Given the description of an element on the screen output the (x, y) to click on. 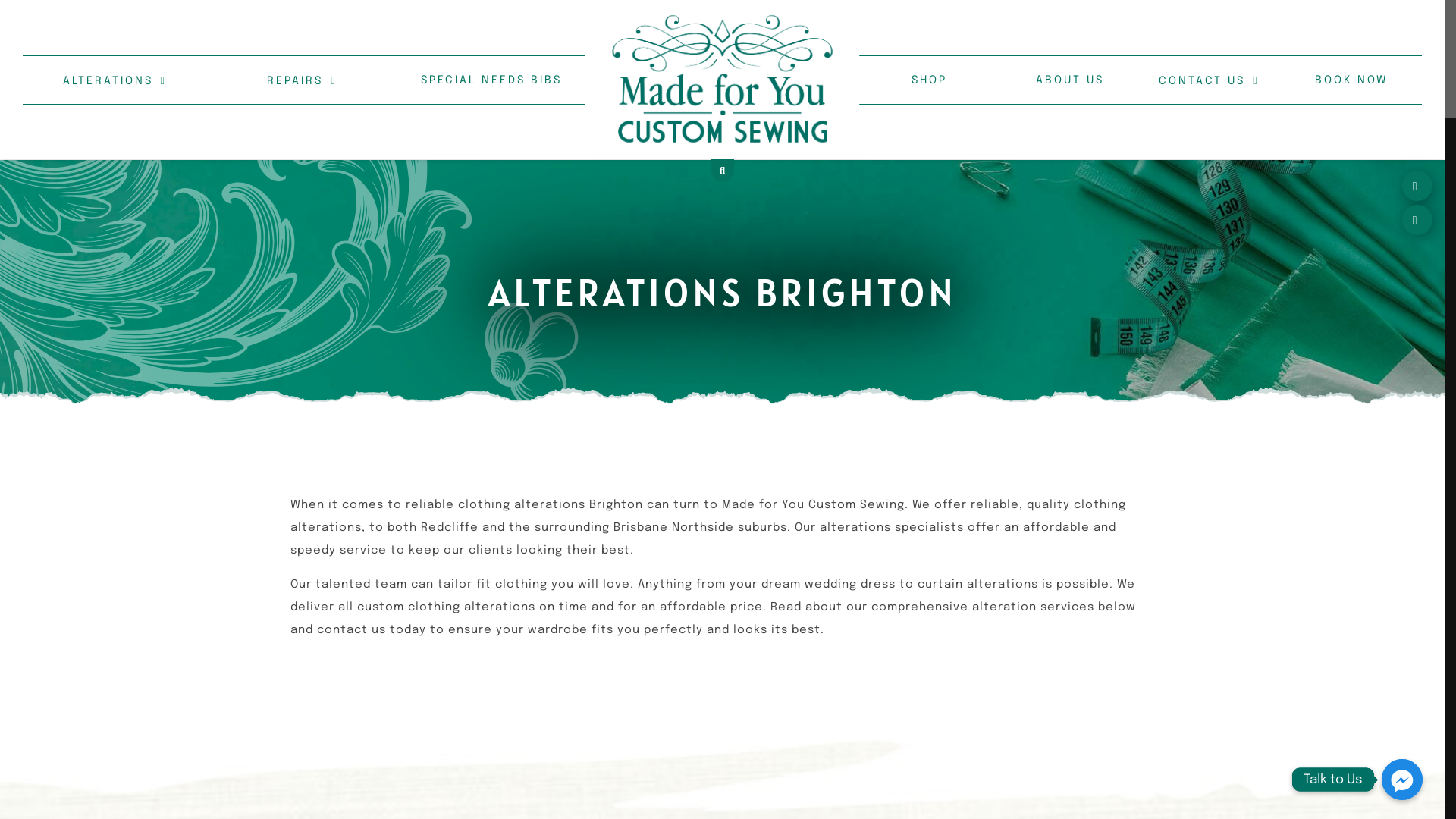
ABOUT US Element type: text (1070, 78)
SHOP Element type: text (929, 78)
ACCOUNT Element type: text (1379, 219)
ALTERATIONS Element type: text (114, 79)
Talk to Us Element type: text (1401, 779)
CART Element type: text (1393, 185)
REPAIRS Element type: text (301, 79)
SPECIAL NEEDS BIBS Element type: text (491, 78)
Search Element type: text (1031, 197)
BOOK NOW Element type: text (1351, 78)
CONTACT US Element type: text (1208, 79)
